Given the description of an element on the screen output the (x, y) to click on. 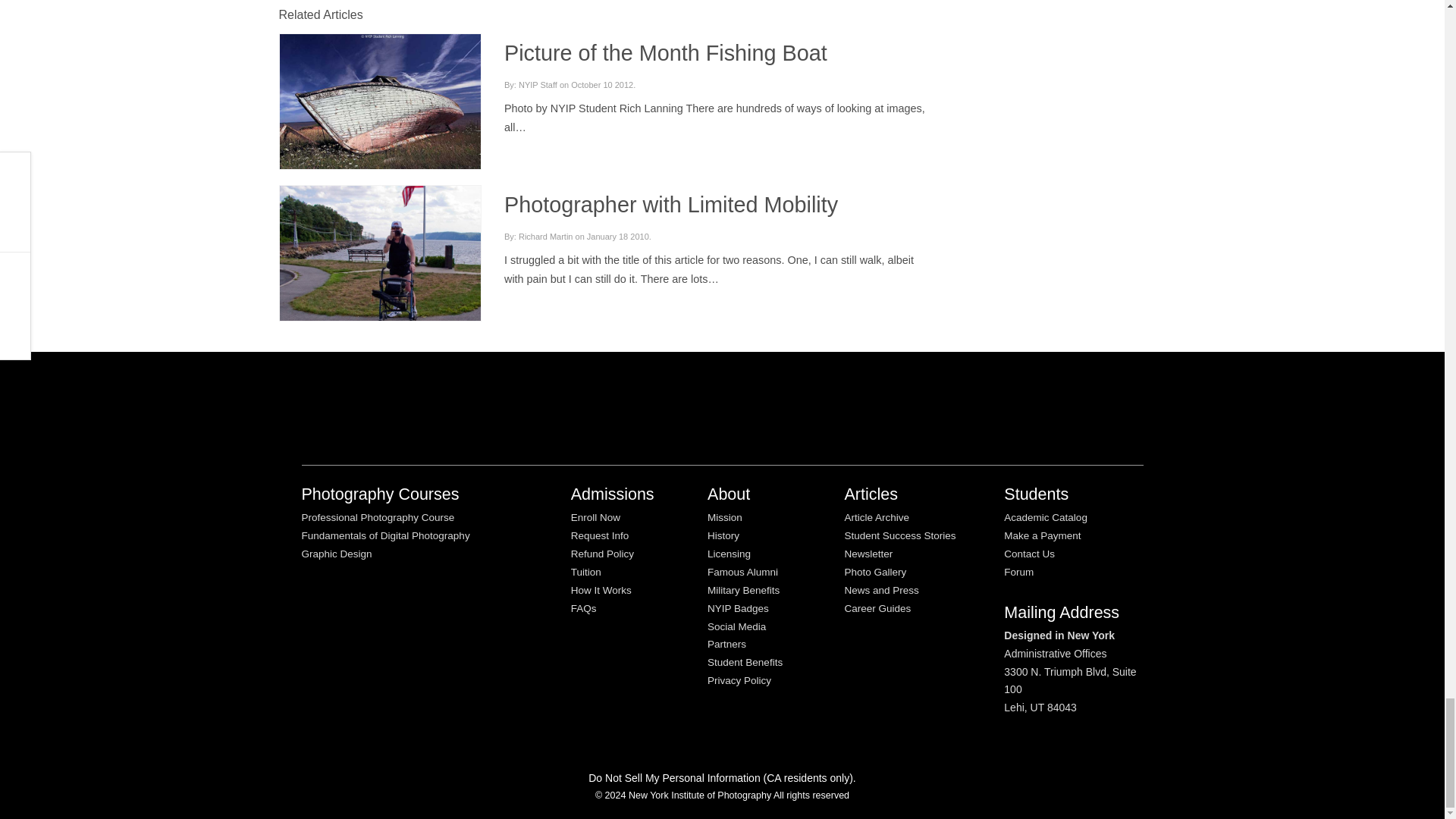
Picture of the Month Fishing Boat (665, 52)
Picture of the Month Fishing Boat (379, 99)
Photographer with Limited Mobility (379, 264)
Picture of the Month Fishing Boat (379, 101)
Photographer with Limited Mobility (379, 266)
Photographer with Limited Mobility (670, 204)
